Given the description of an element on the screen output the (x, y) to click on. 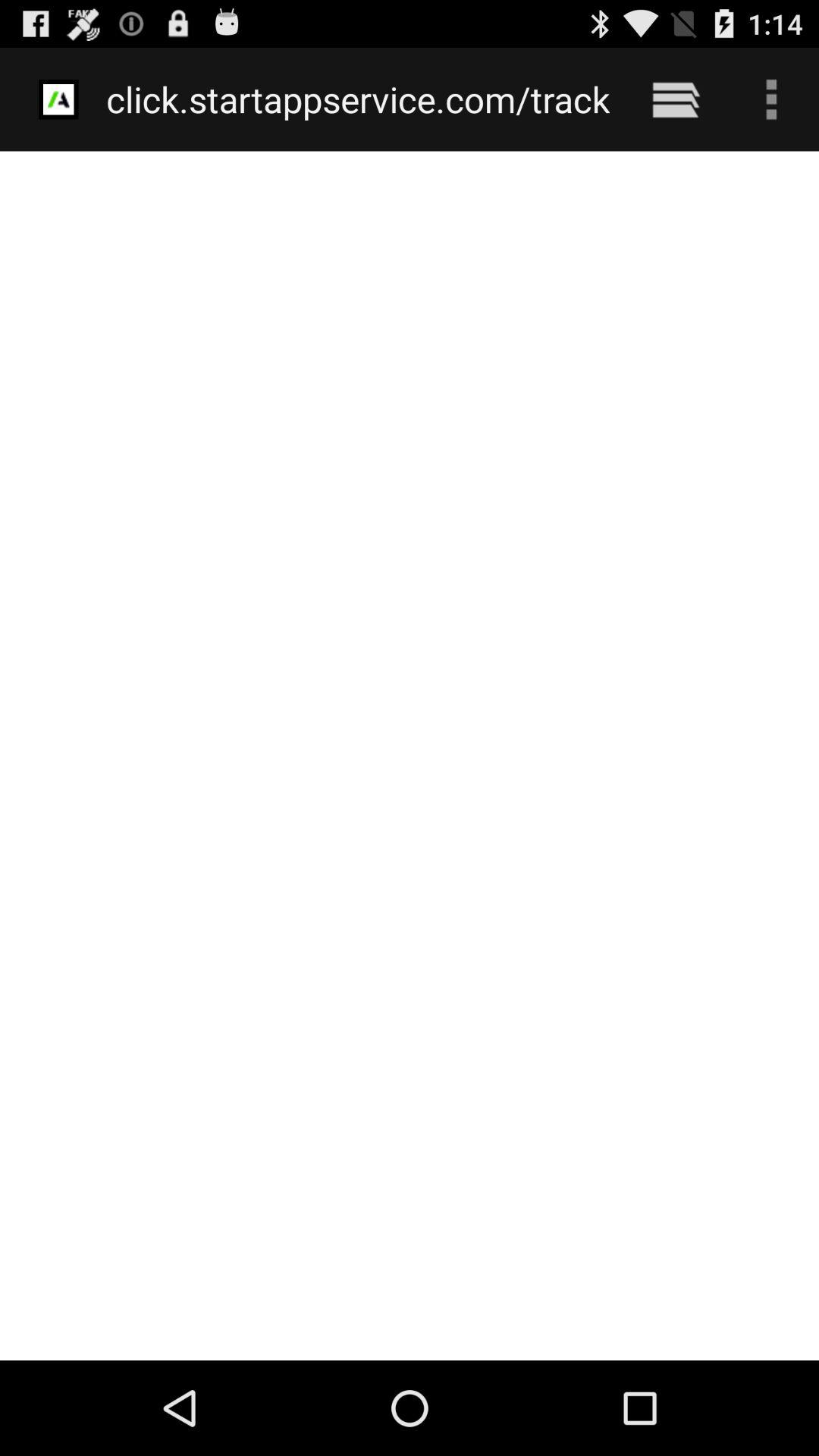
press the icon next to click startappservice com item (675, 99)
